Given the description of an element on the screen output the (x, y) to click on. 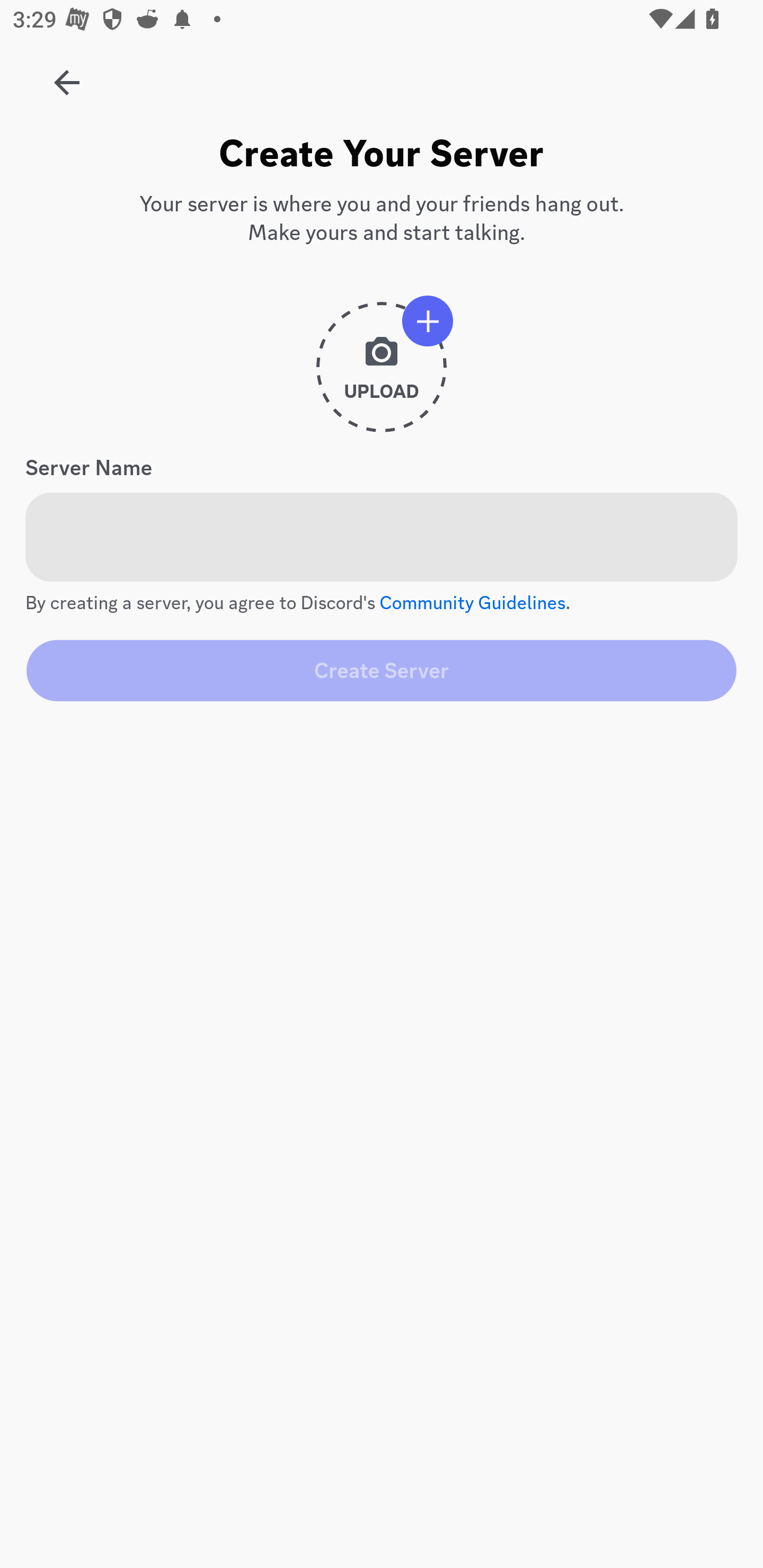
Add a Server (57, 75)
Upload Image UPLOAD (381, 373)
Create Server (381, 670)
